Given the description of an element on the screen output the (x, y) to click on. 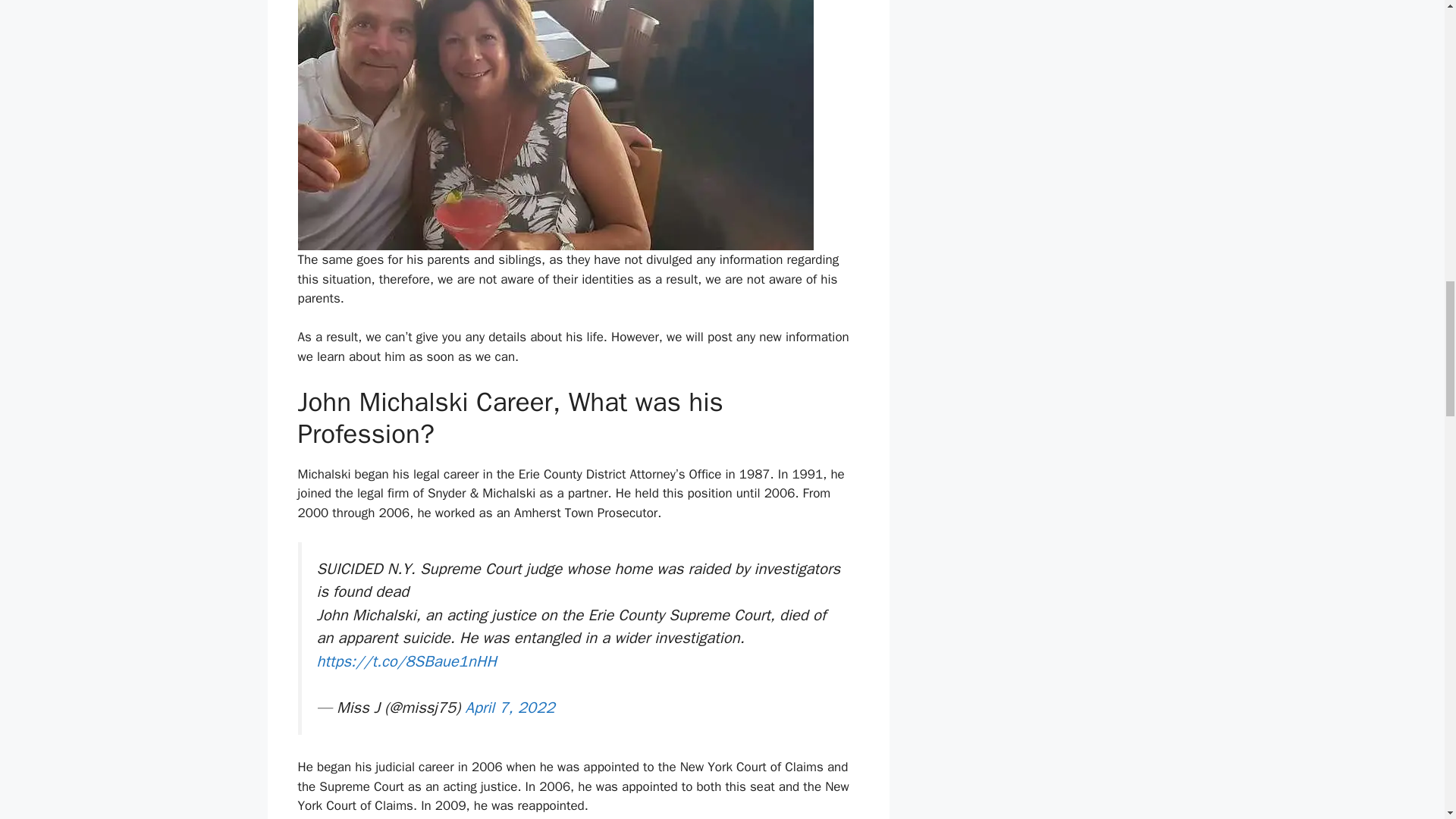
April 7, 2022 (509, 707)
